Given the description of an element on the screen output the (x, y) to click on. 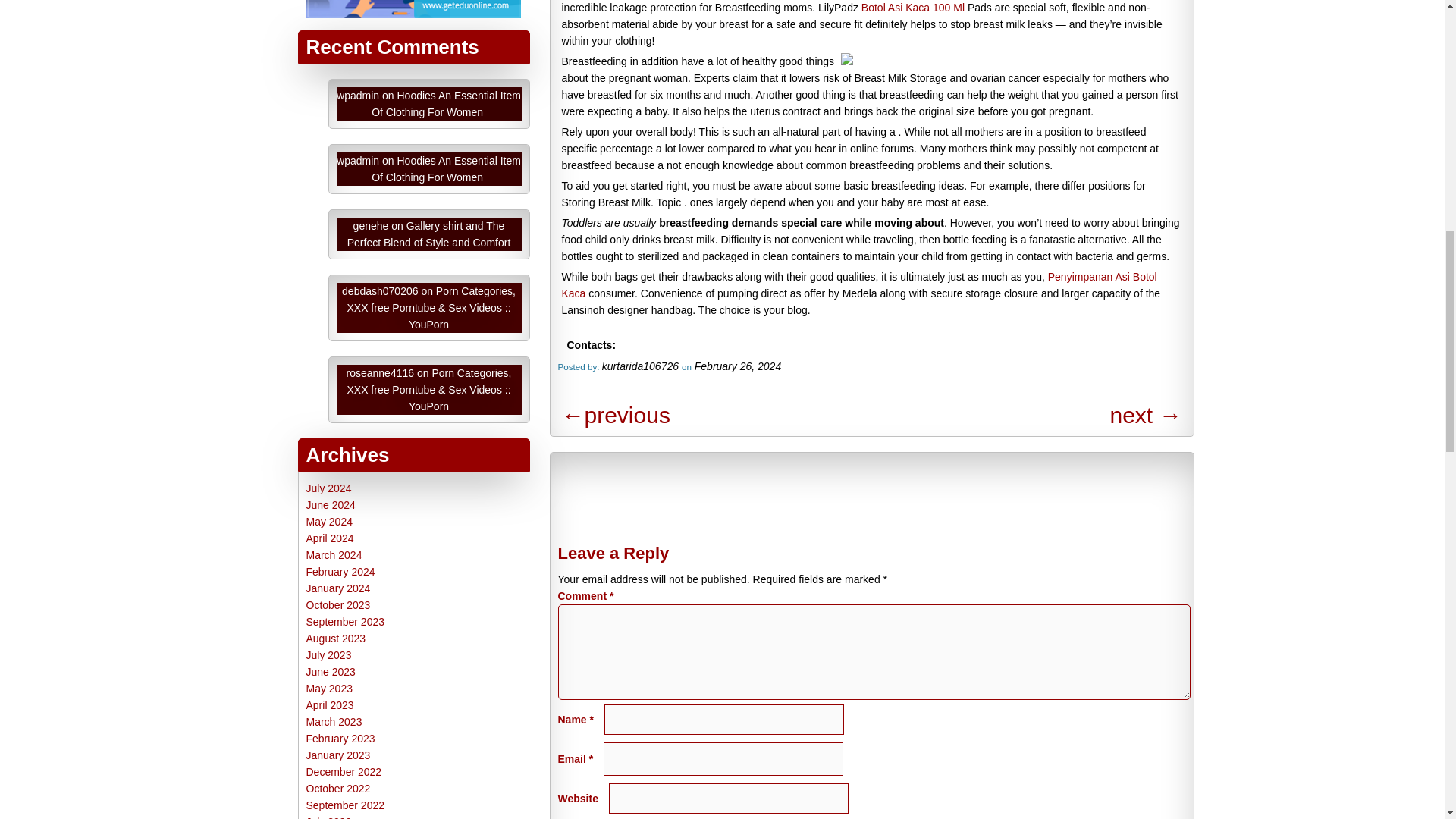
debdash070206 (379, 291)
roseanne4116 (380, 372)
July 2024 (328, 488)
April 2024 (329, 538)
Hoodies An Essential Item Of Clothing For Women  (446, 103)
wpadmin (357, 160)
Botol Asi Kaca 100 Ml (912, 7)
May 2024 (328, 521)
genehe (370, 225)
Hoodies An Essential Item Of Clothing For Women  (446, 168)
June 2024 (330, 504)
Gallery shirt and The Perfect Blend of Style and Comfort (429, 234)
wpadmin (357, 95)
Penyimpanan Asi Botol Kaca (858, 285)
